Given the description of an element on the screen output the (x, y) to click on. 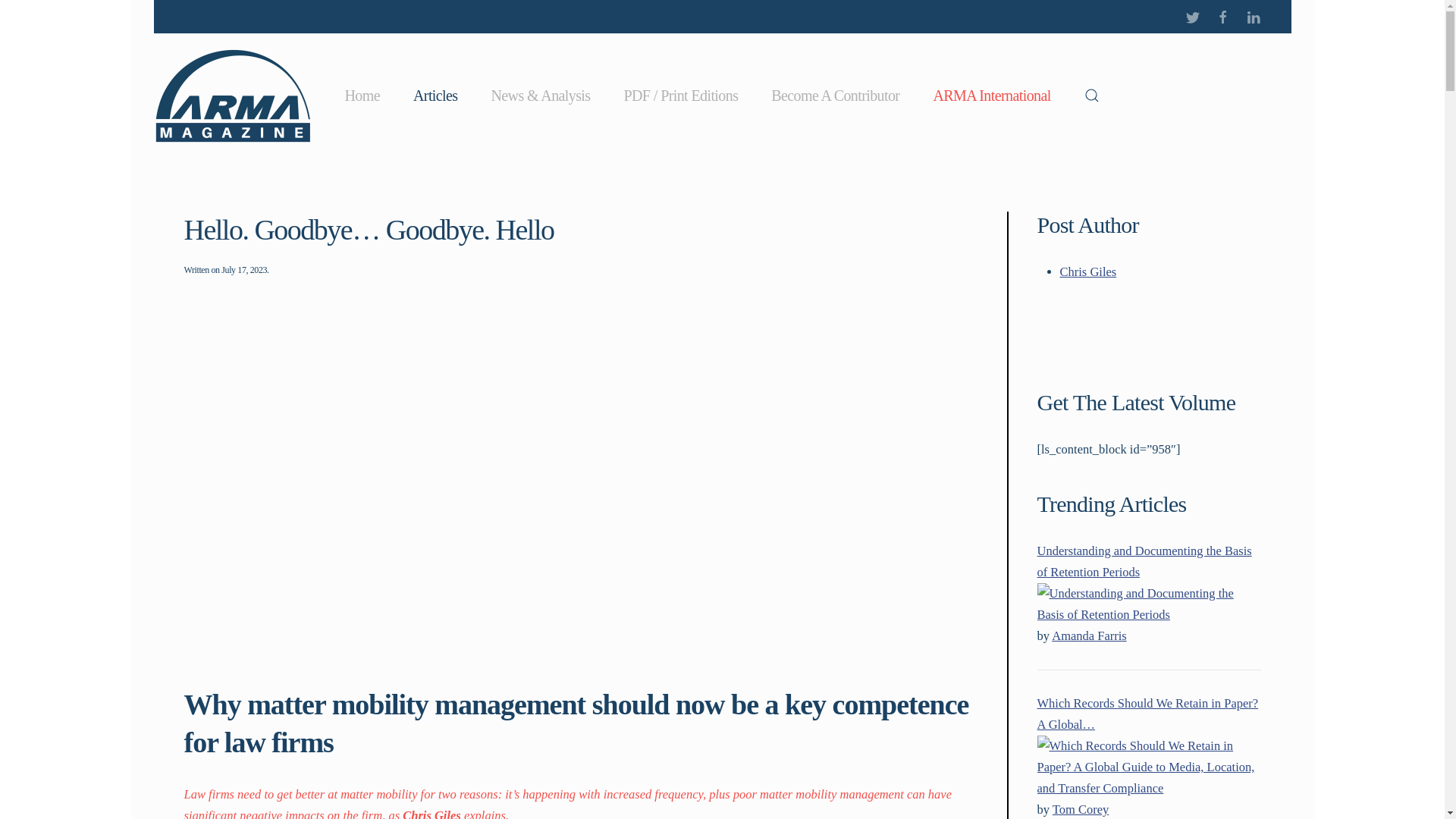
Understanding and Documenting the Basis of Retention Periods (1148, 604)
Understanding and Documenting the Basis of Retention Periods (1144, 561)
Home (361, 95)
Chris Giles (1087, 271)
Become A Contributor (834, 95)
Chris Giles (1087, 271)
ARMA International (991, 95)
Articles (435, 95)
Amanda Farris (1088, 635)
